Given the description of an element on the screen output the (x, y) to click on. 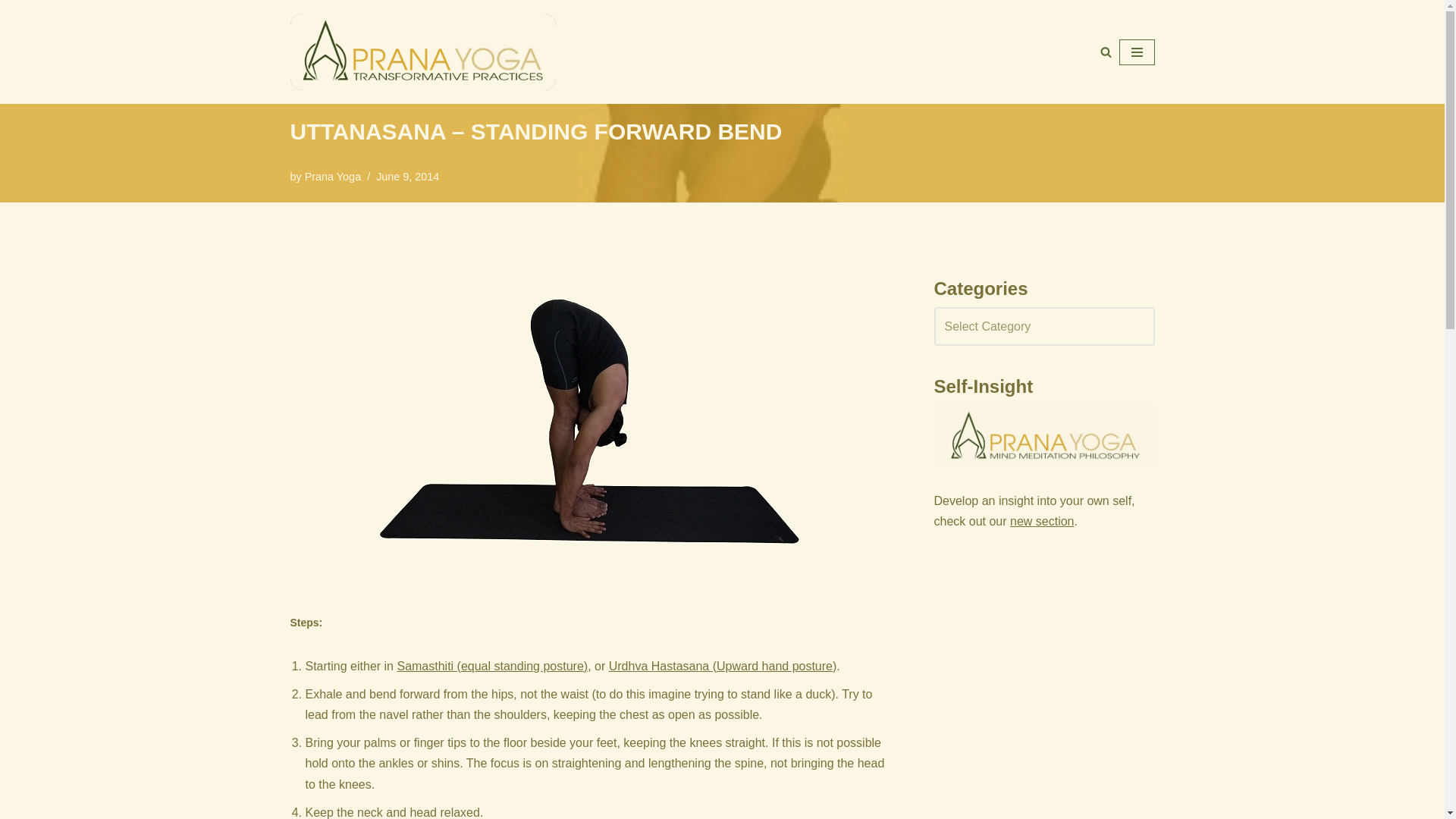
Urdhva Hastasana (722, 666)
Posts by Prana Yoga (332, 176)
Navigation Menu (1136, 52)
Skip to content (11, 31)
